Given the description of an element on the screen output the (x, y) to click on. 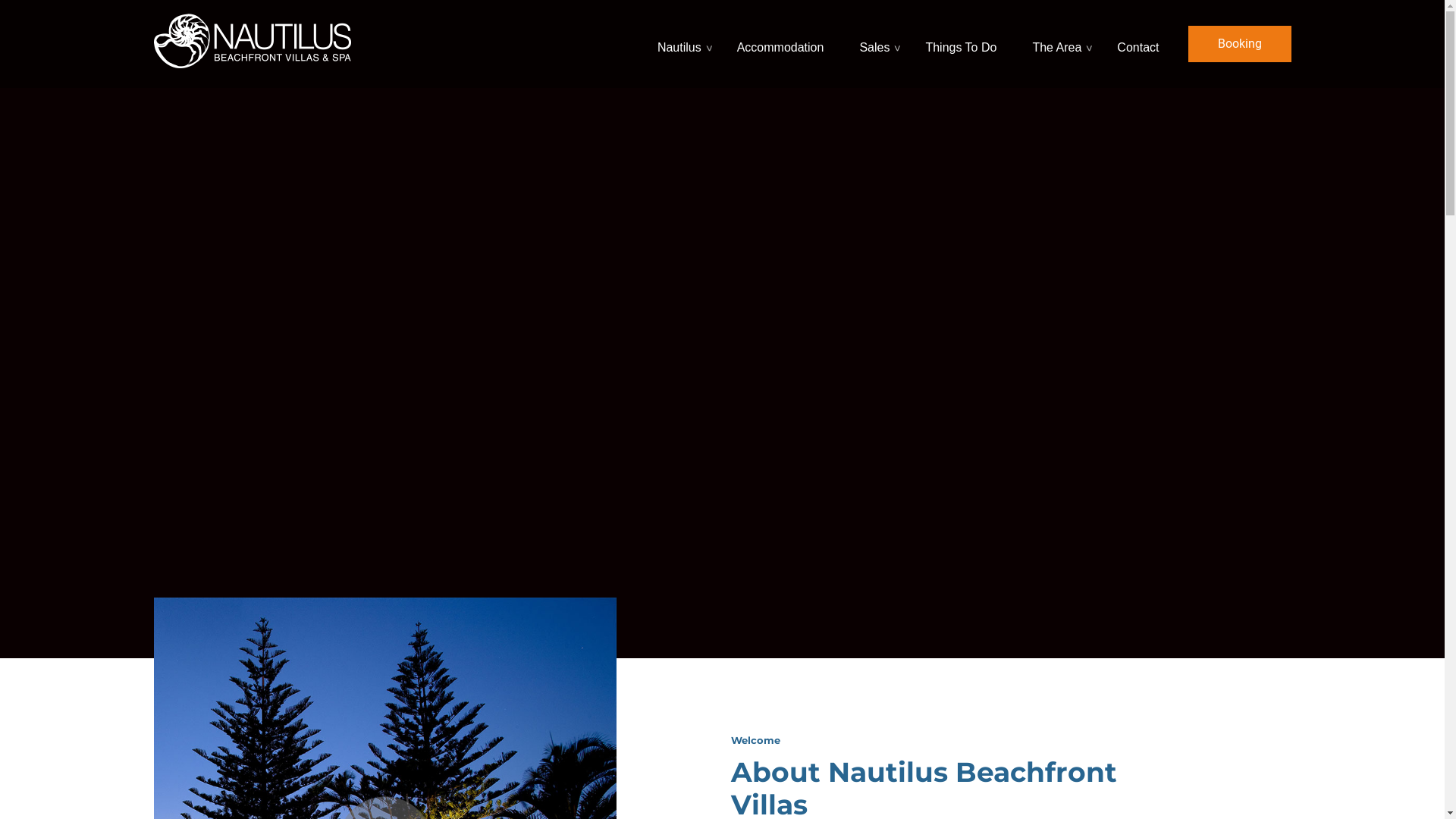
Booking Element type: text (1238, 43)
Nautilus Beachfront Villas & Spas Element type: hover (251, 39)
The Area Element type: text (1058, 43)
Nautilus Element type: text (681, 43)
Accommodation Element type: text (782, 43)
Sales Element type: text (876, 43)
Things To Do Element type: text (962, 43)
Contact Element type: text (1139, 43)
